Given the description of an element on the screen output the (x, y) to click on. 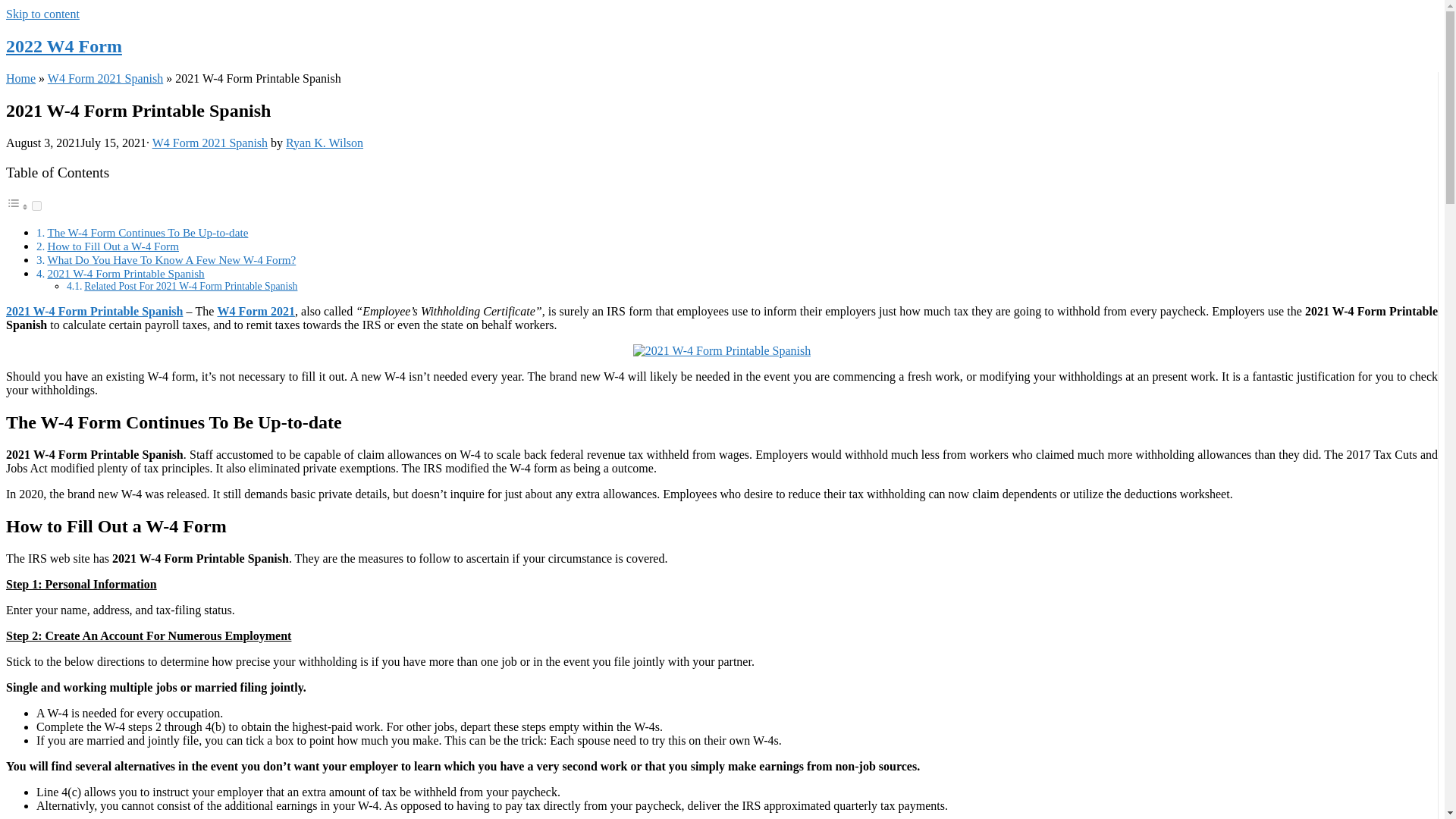
2022 W4 Form (63, 46)
Related Post For 2021 W-4 Form Printable Spanish (190, 285)
Skip to content (42, 13)
2021 W-4 Form Printable Spanish (124, 273)
W4 Form 2021 Spanish (105, 78)
W4 Form 2021 Spanish (209, 142)
The W-4 Form Continues To Be Up-to-date (146, 232)
W4 Form 2021 (255, 310)
How to Fill Out a W-4 Form (112, 245)
Home (19, 78)
Ryan K. Wilson (323, 142)
on (37, 205)
What Do You Have To Know A Few New W-4 Form? (170, 259)
w 4 form 2020 spanish w4 2020 form printable 3 (721, 350)
2021 W-4 Form Printable Spanish (94, 310)
